Given the description of an element on the screen output the (x, y) to click on. 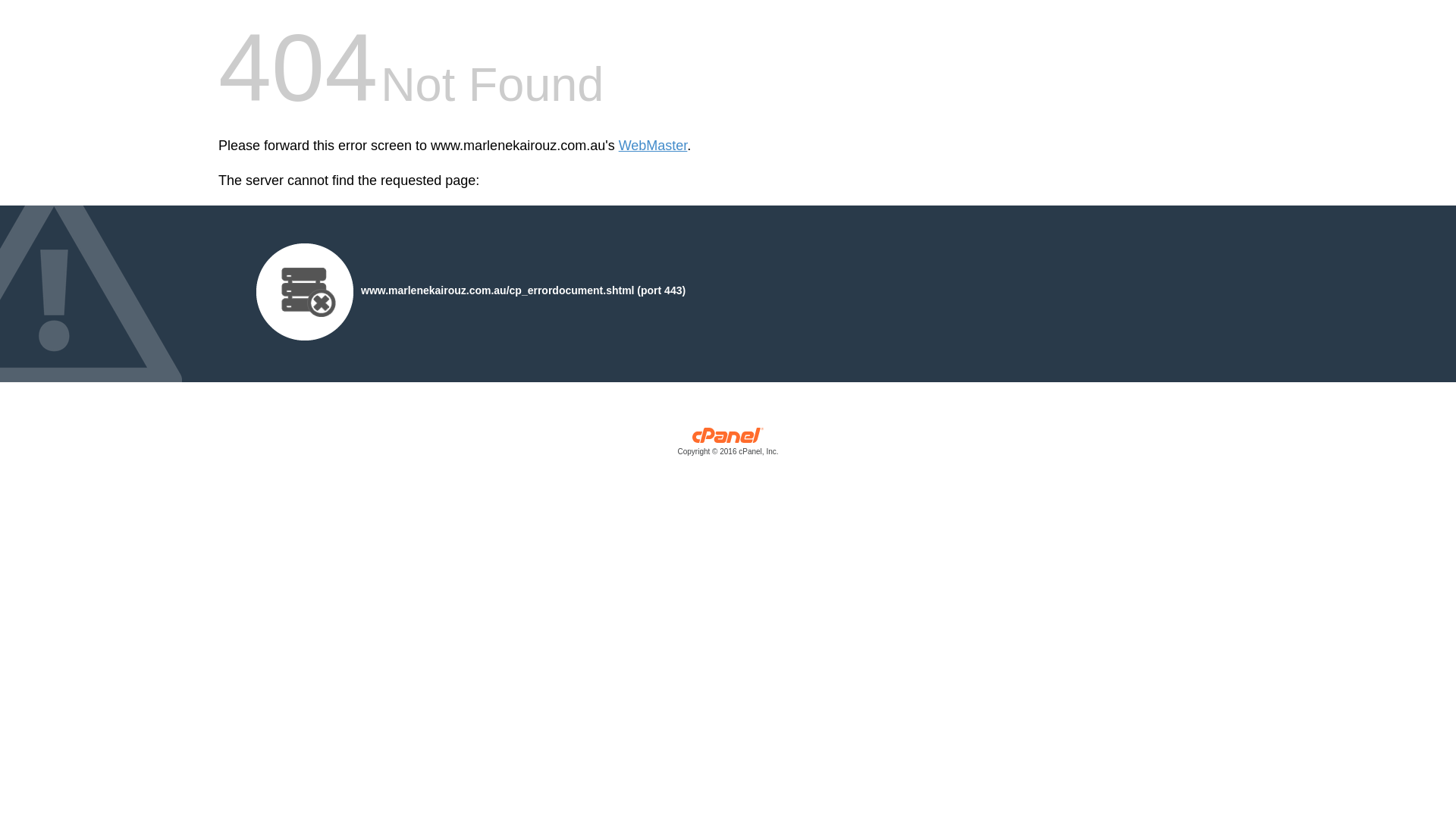
WebMaster Element type: text (652, 145)
